Given the description of an element on the screen output the (x, y) to click on. 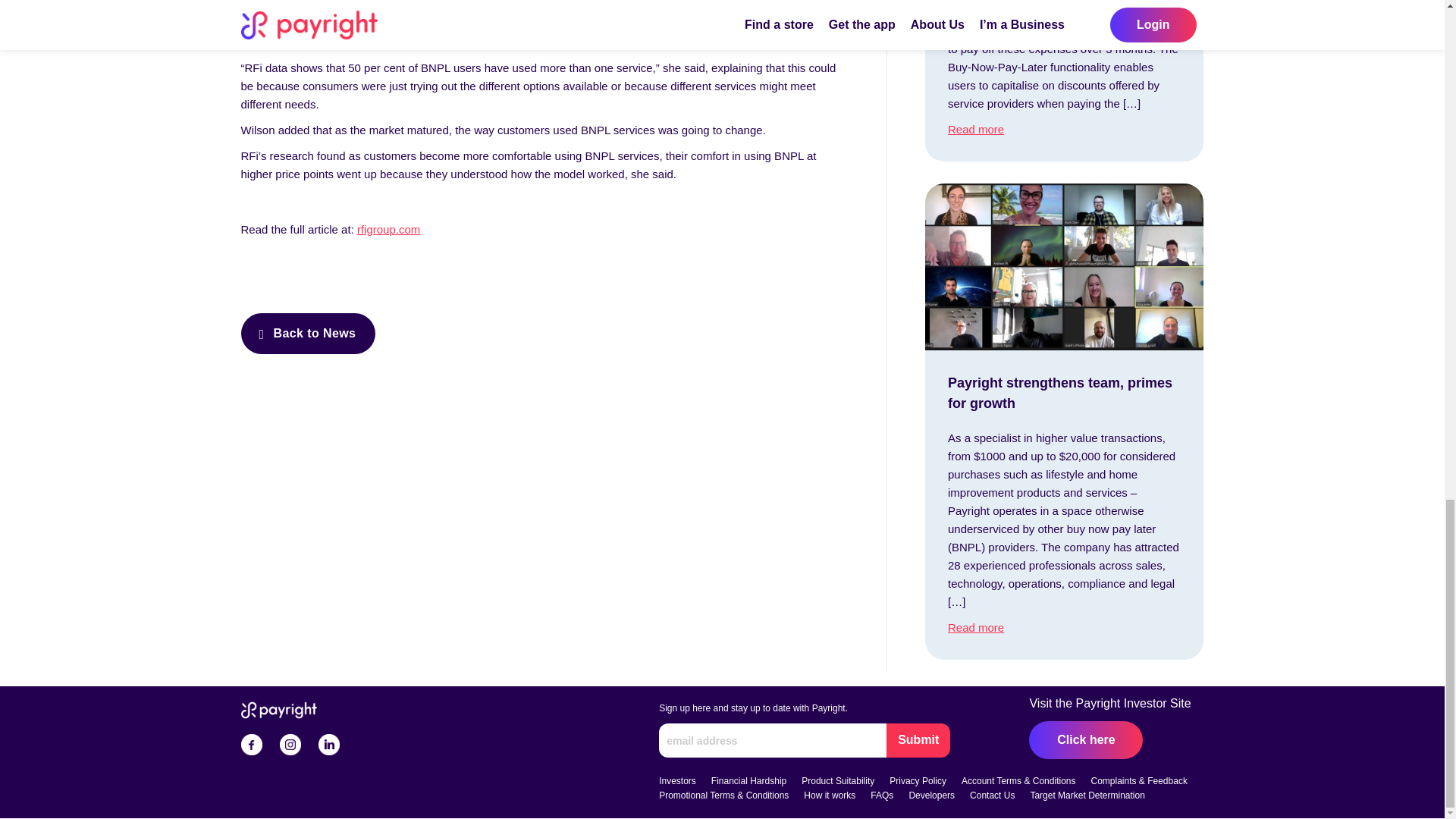
Submit (918, 740)
Back to News (308, 332)
rfigroup.com (388, 228)
